Given the description of an element on the screen output the (x, y) to click on. 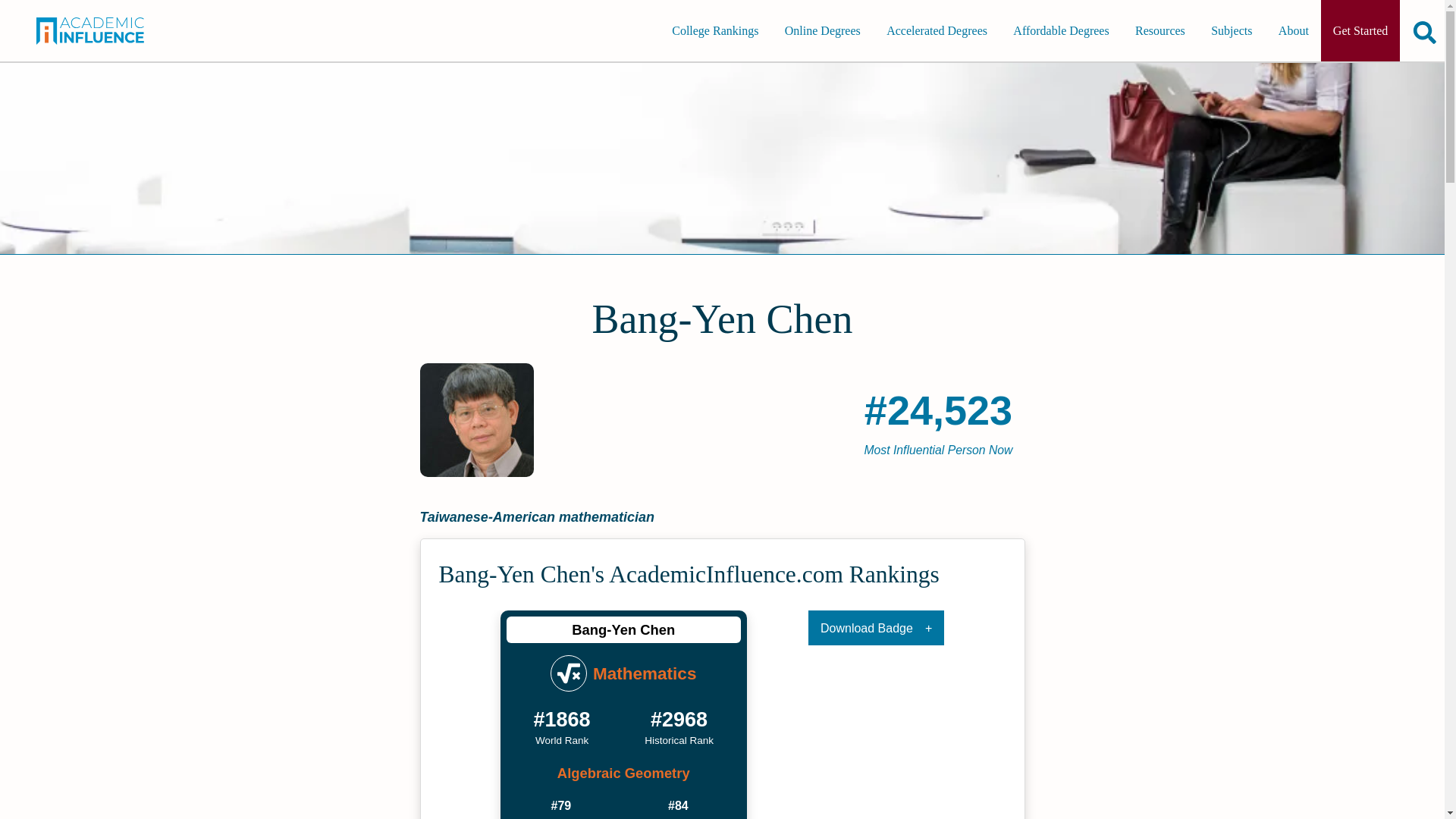
College Rankings (714, 30)
Subjects (1230, 30)
Get Started (1359, 30)
About (1293, 30)
Accelerated Degrees (936, 30)
Affordable Degrees (1061, 30)
Resources (1159, 30)
Online Degrees (822, 30)
